Given the description of an element on the screen output the (x, y) to click on. 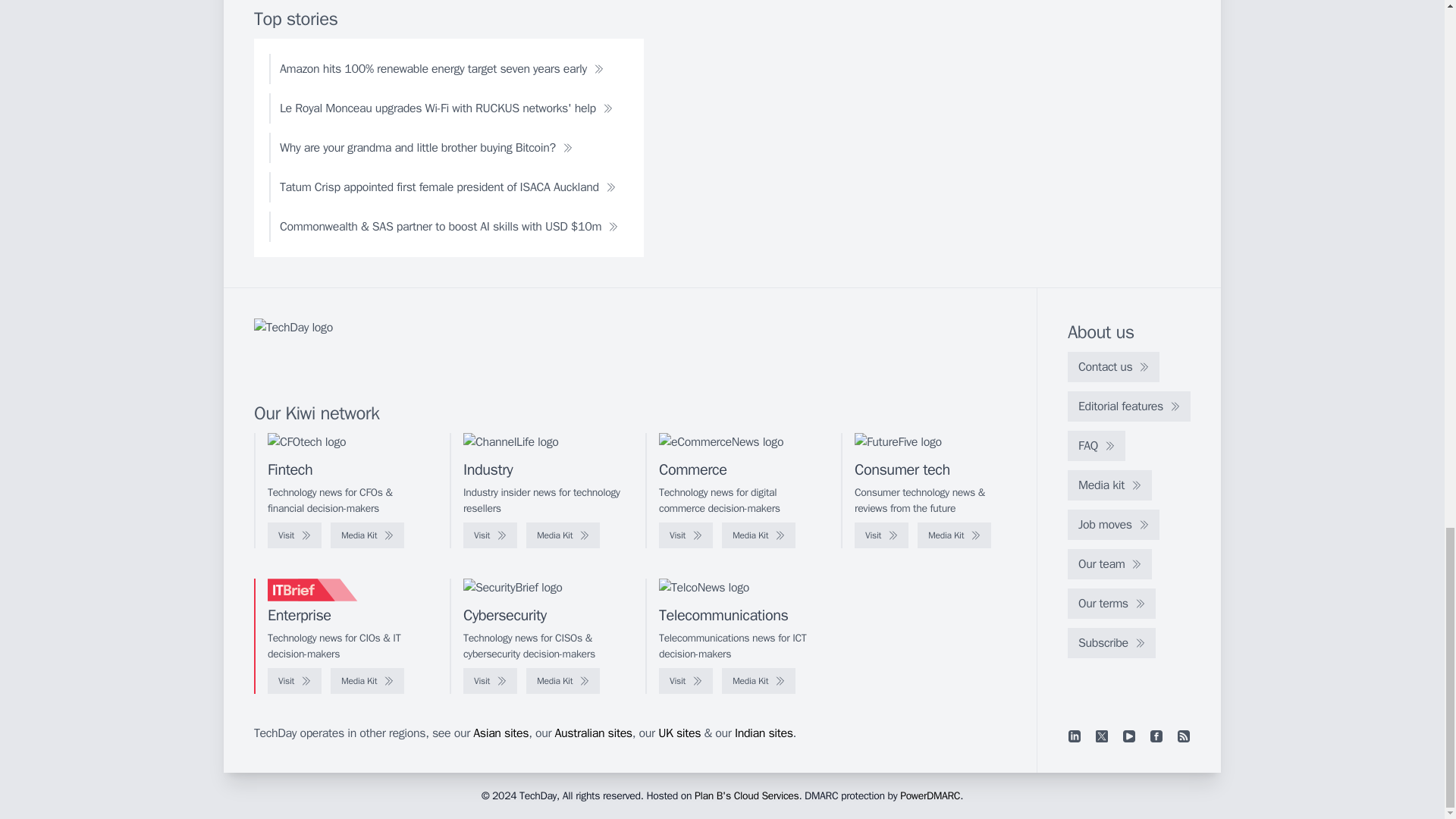
Media Kit (367, 534)
Le Royal Monceau upgrades Wi-Fi with RUCKUS networks' help (446, 108)
Why are your grandma and little brother buying Bitcoin? (426, 147)
Visit (489, 534)
Media Kit (954, 534)
Media Kit (562, 534)
Visit (686, 534)
Media Kit (758, 534)
Visit (294, 534)
